Given the description of an element on the screen output the (x, y) to click on. 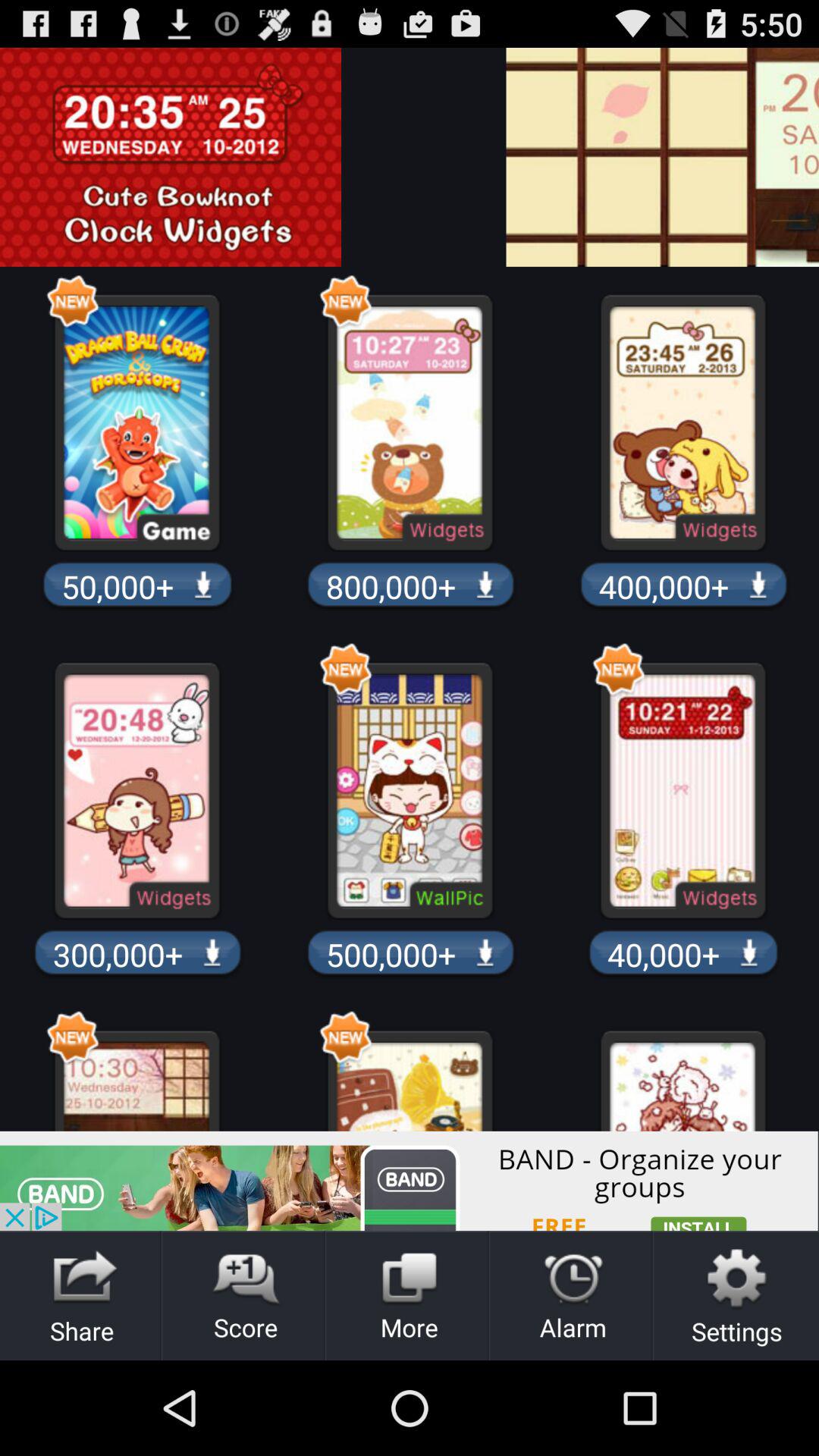
clock widgets advertisement (398, 156)
